Given the description of an element on the screen output the (x, y) to click on. 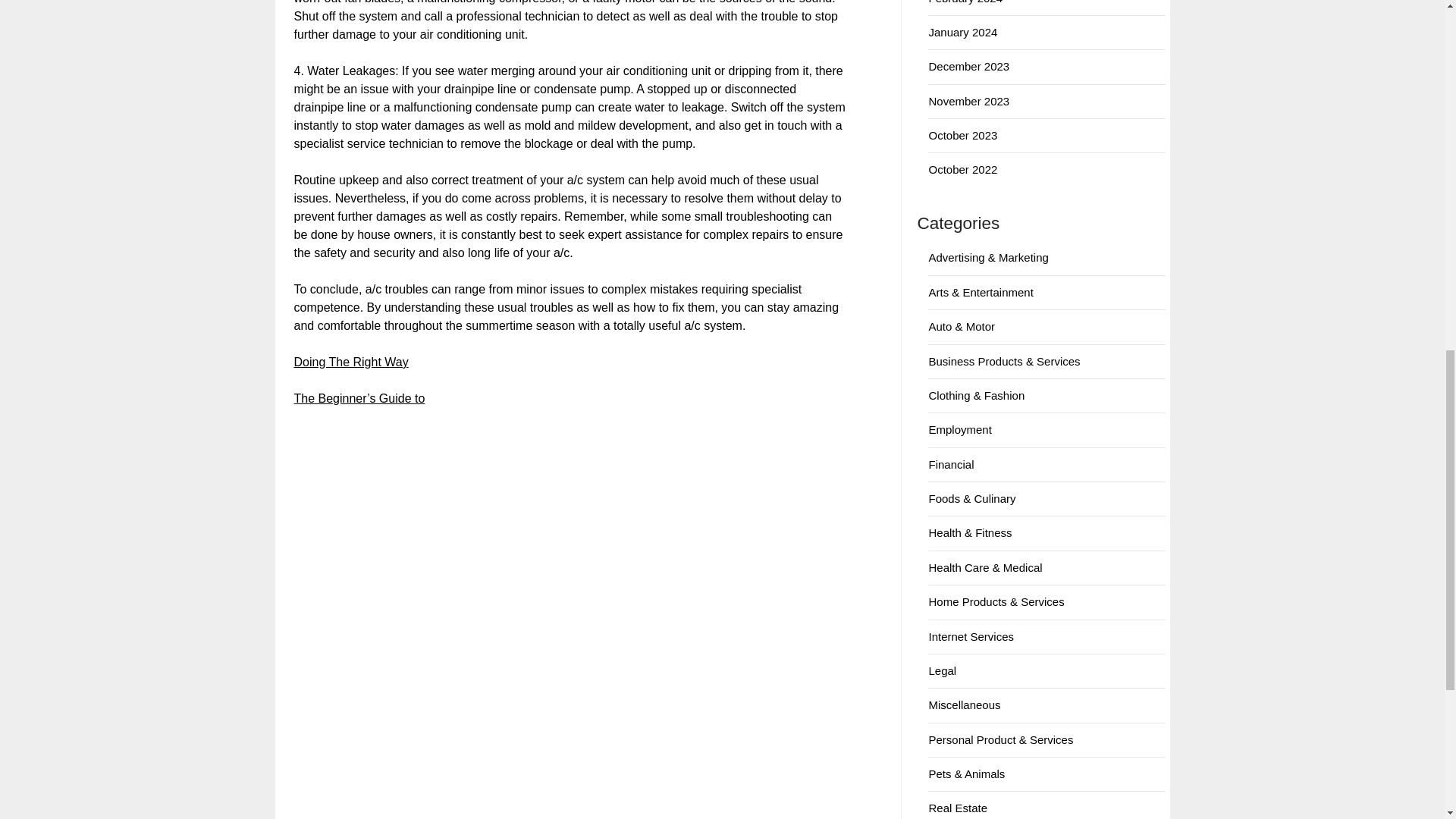
Miscellaneous (964, 704)
Doing The Right Way (351, 361)
Employment (959, 429)
Financial (951, 463)
February 2024 (965, 2)
November 2023 (968, 101)
Internet Services (970, 635)
December 2023 (968, 65)
October 2023 (962, 134)
January 2024 (962, 31)
October 2022 (962, 169)
Legal (942, 670)
